Given the description of an element on the screen output the (x, y) to click on. 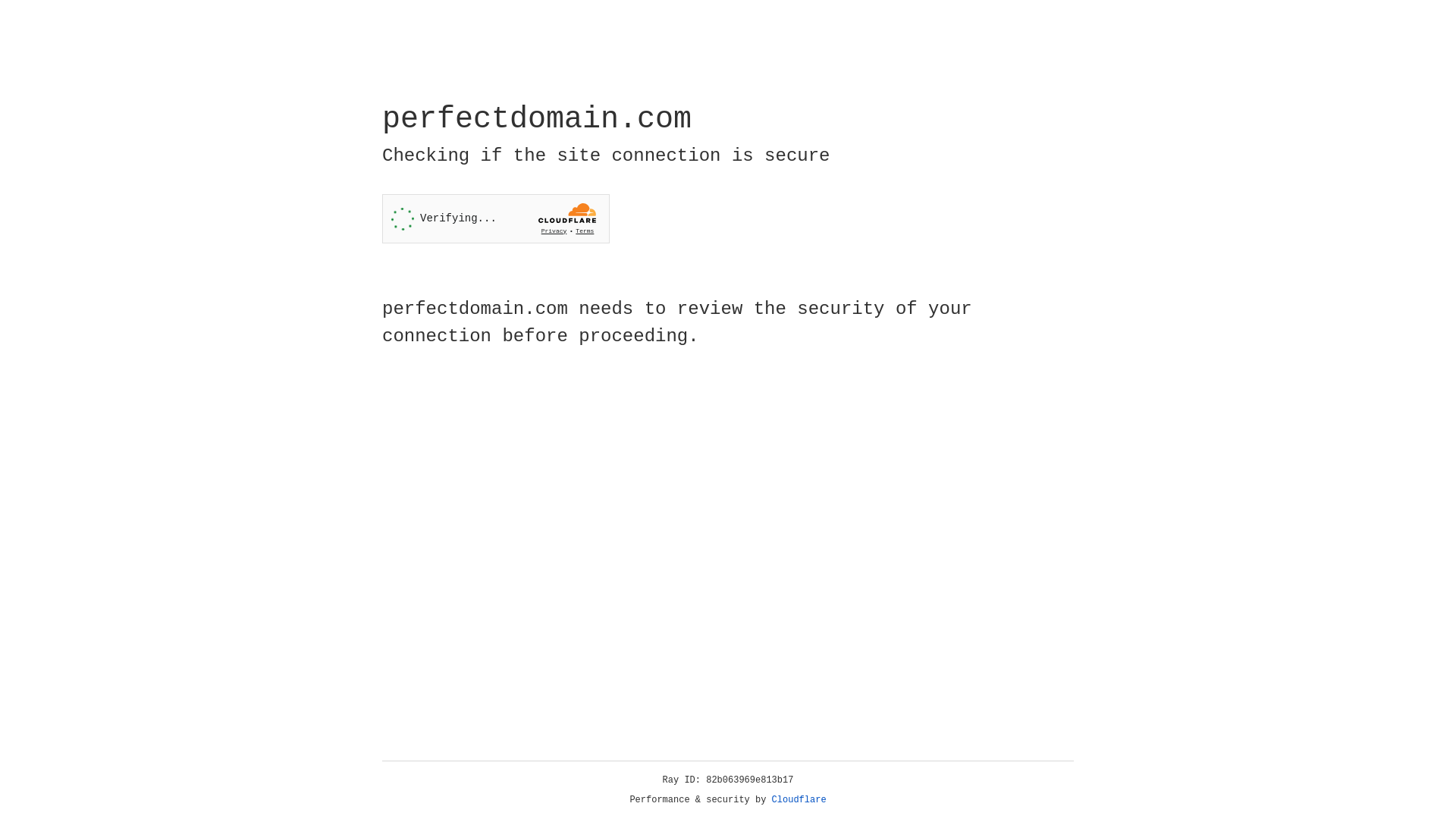
Widget containing a Cloudflare security challenge Element type: hover (495, 218)
Cloudflare Element type: text (798, 799)
